Given the description of an element on the screen output the (x, y) to click on. 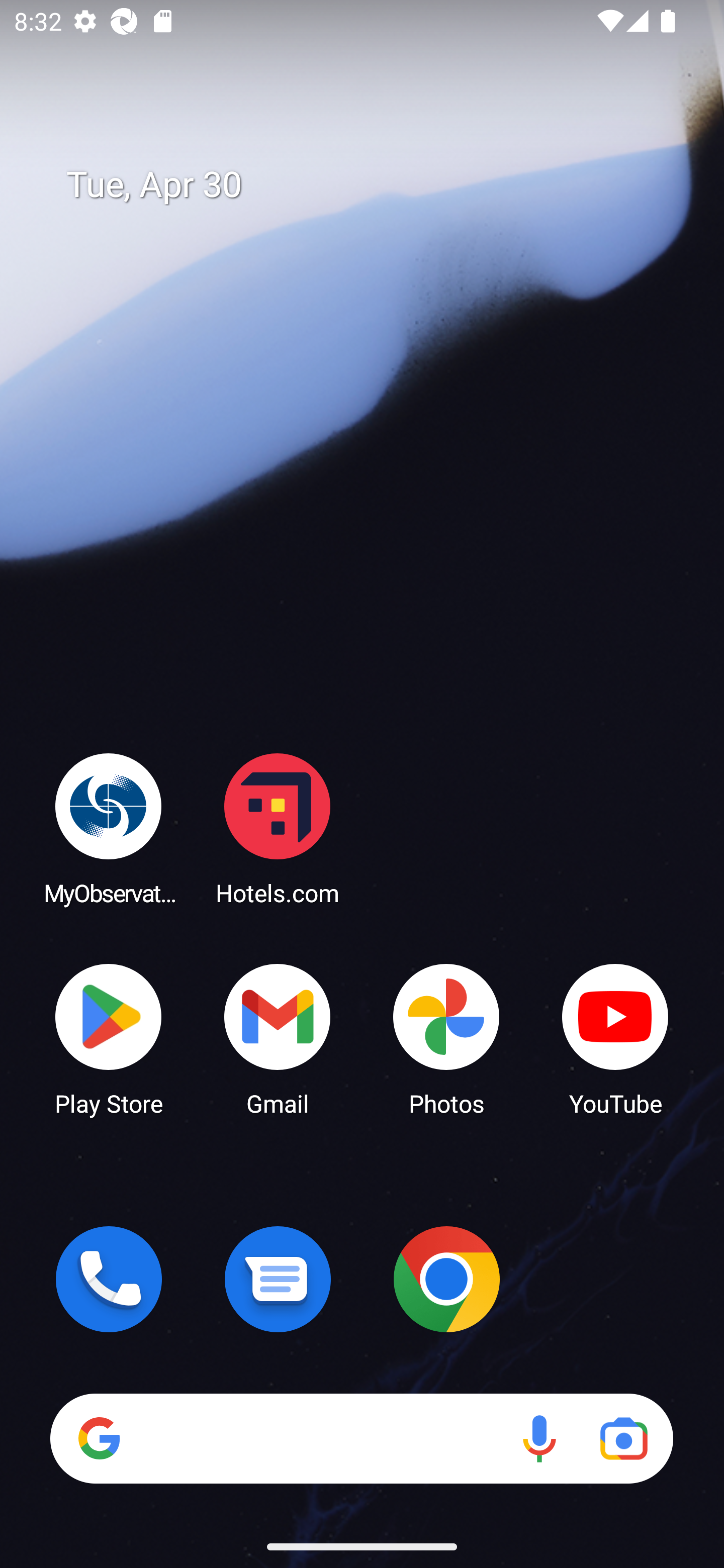
Tue, Apr 30 (375, 184)
MyObservatory (108, 828)
Hotels.com (277, 828)
Play Store (108, 1038)
Gmail (277, 1038)
Photos (445, 1038)
YouTube (615, 1038)
Phone (108, 1279)
Messages (277, 1279)
Chrome (446, 1279)
Voice search (539, 1438)
Google Lens (623, 1438)
